Given the description of an element on the screen output the (x, y) to click on. 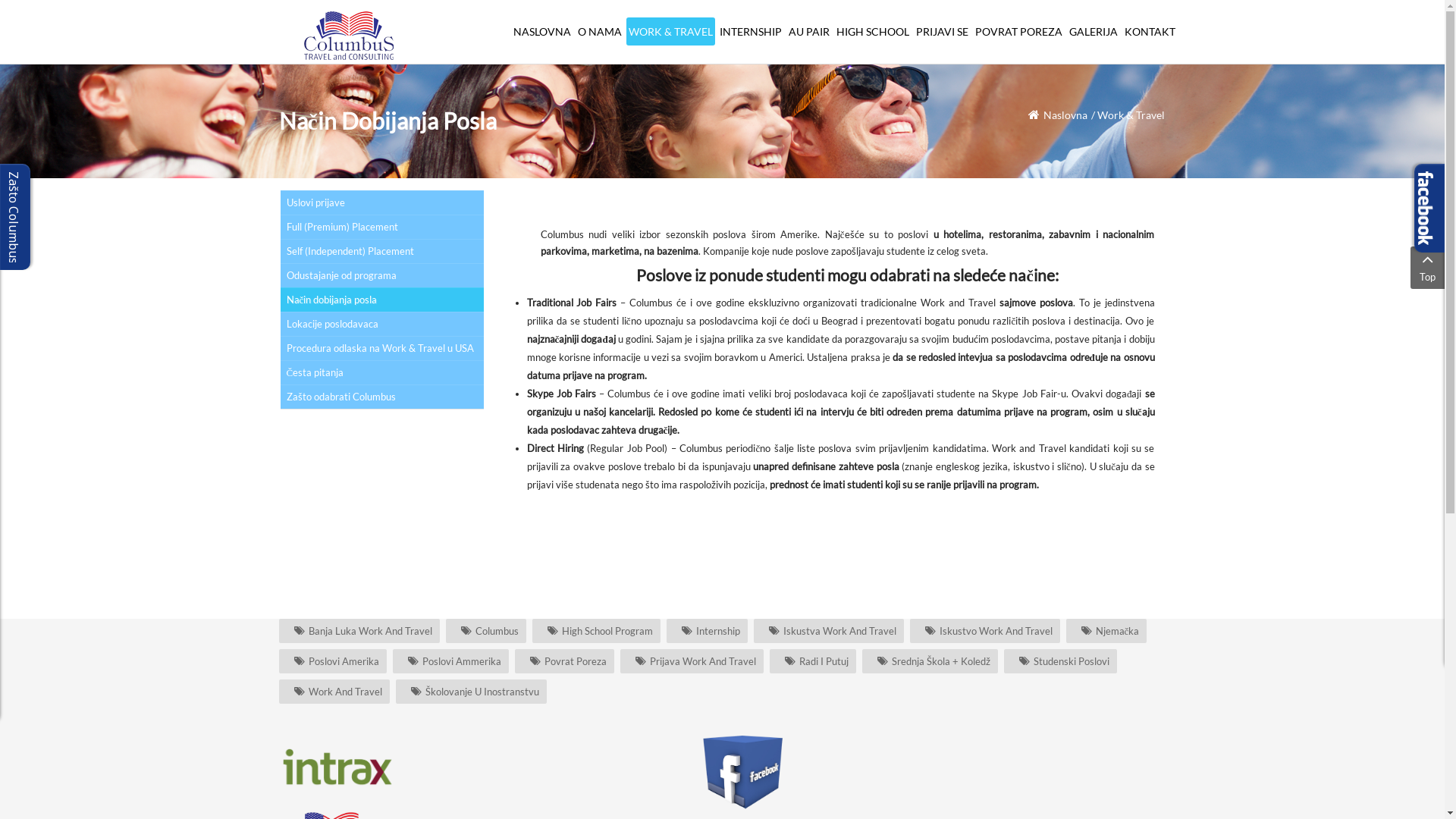
Iskustva Work And Travel Element type: text (828, 630)
Lokacije poslodavaca Element type: text (381, 323)
Top Element type: text (1427, 267)
POVRAT POREZA Element type: text (1017, 31)
Work And Travel Element type: text (334, 691)
Full (Premium) Placement Element type: text (381, 226)
Poslovi Ammerika Element type: text (450, 661)
HIGH SCHOOL Element type: text (872, 31)
Internship Element type: text (705, 630)
Poslovi Amerika Element type: text (332, 661)
Self (Independent) Placement Element type: text (381, 250)
Columbus Element type: hover (351, 34)
GALERIJA Element type: text (1092, 31)
KONTAKT Element type: text (1149, 31)
Prijava Work And Travel Element type: text (691, 661)
Banja Luka Work And Travel Element type: text (359, 630)
Radi I Putuj Element type: text (811, 661)
Posjetite nas Element type: hover (742, 769)
Work & Travel Element type: text (1130, 114)
AU PAIR Element type: text (808, 31)
Uslovi prijave Element type: text (381, 202)
Odustajanje od programa Element type: text (381, 275)
Columbus Element type: text (485, 630)
Povrat Poreza Element type: text (563, 661)
NASLOVNA Element type: text (542, 31)
Iskustvo Work And Travel Element type: text (985, 630)
O NAMA Element type: text (598, 31)
WORK & TRAVEL Element type: text (670, 31)
High School Program Element type: text (596, 630)
Procedura odlaska na Work & Travel u USA Element type: text (381, 347)
Naslovna Element type: text (1065, 114)
INTERNSHIP Element type: text (750, 31)
Studenski Poslovi Element type: text (1060, 661)
